Given the description of an element on the screen output the (x, y) to click on. 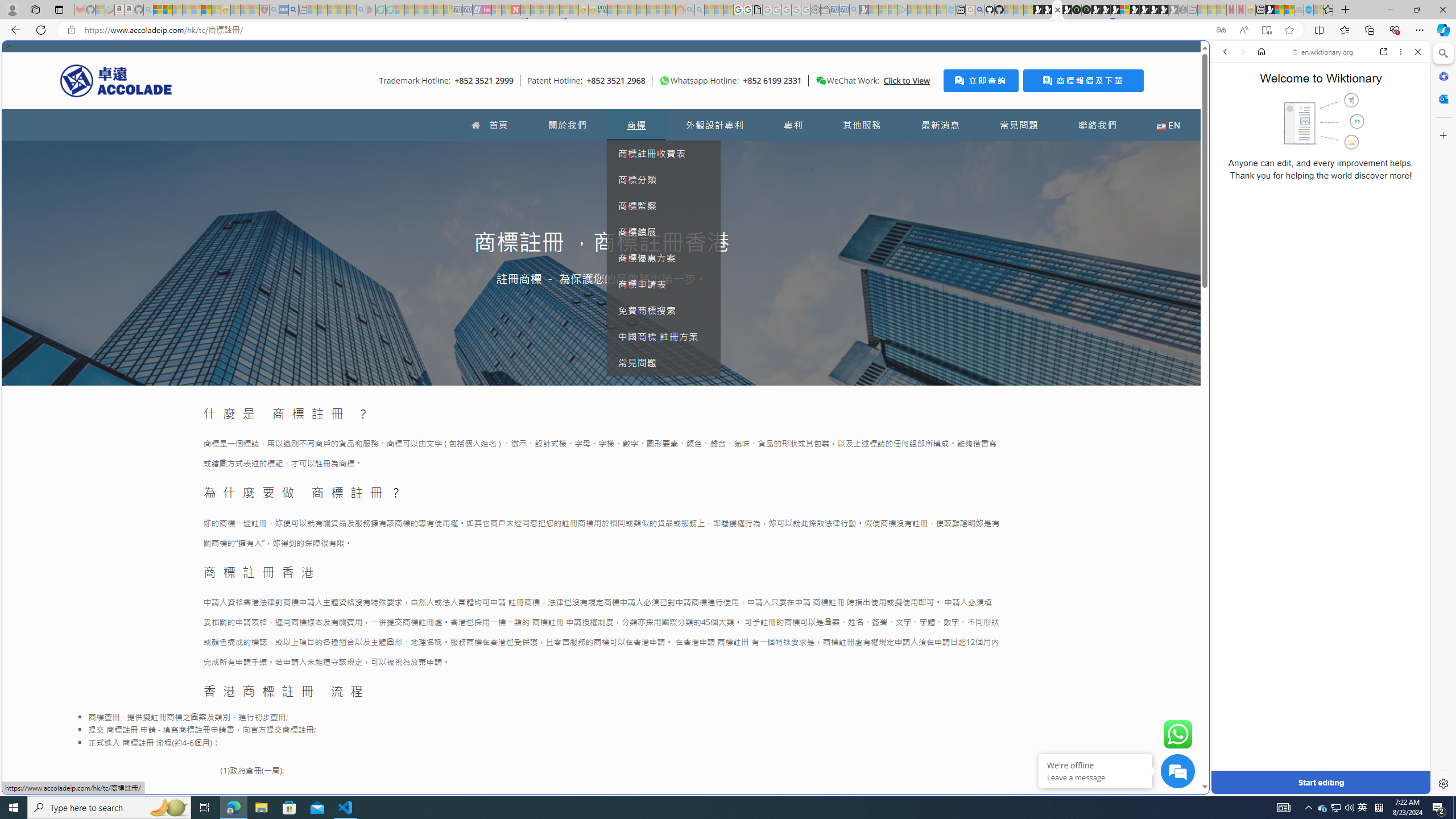
This site scope (1259, 102)
Terms of Use Agreement - Sleeping (380, 9)
Pets - MSN - Sleeping (340, 9)
